Given the description of an element on the screen output the (x, y) to click on. 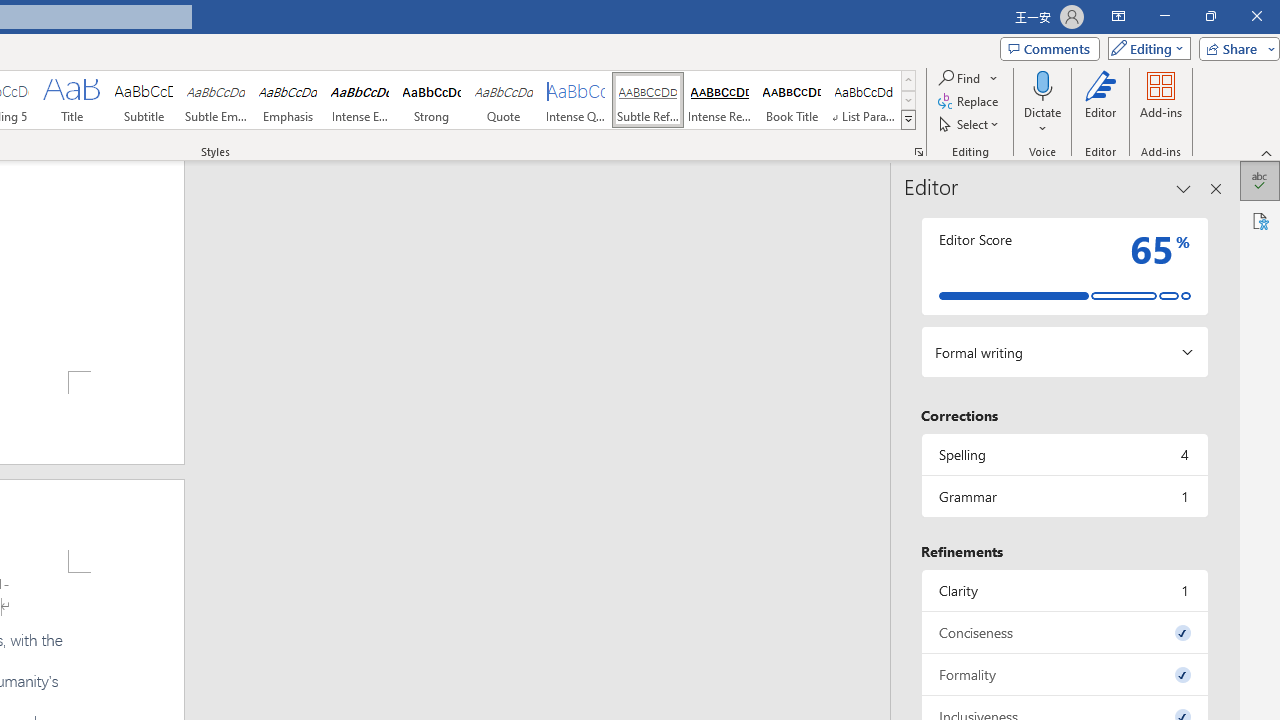
Subtle Reference (647, 100)
Quote (504, 100)
Editor Score 65% (1064, 266)
Grammar, 1 issue. Press space or enter to review items. (1064, 495)
Formality, 0 issues. Press space or enter to review items. (1064, 673)
